Given the description of an element on the screen output the (x, y) to click on. 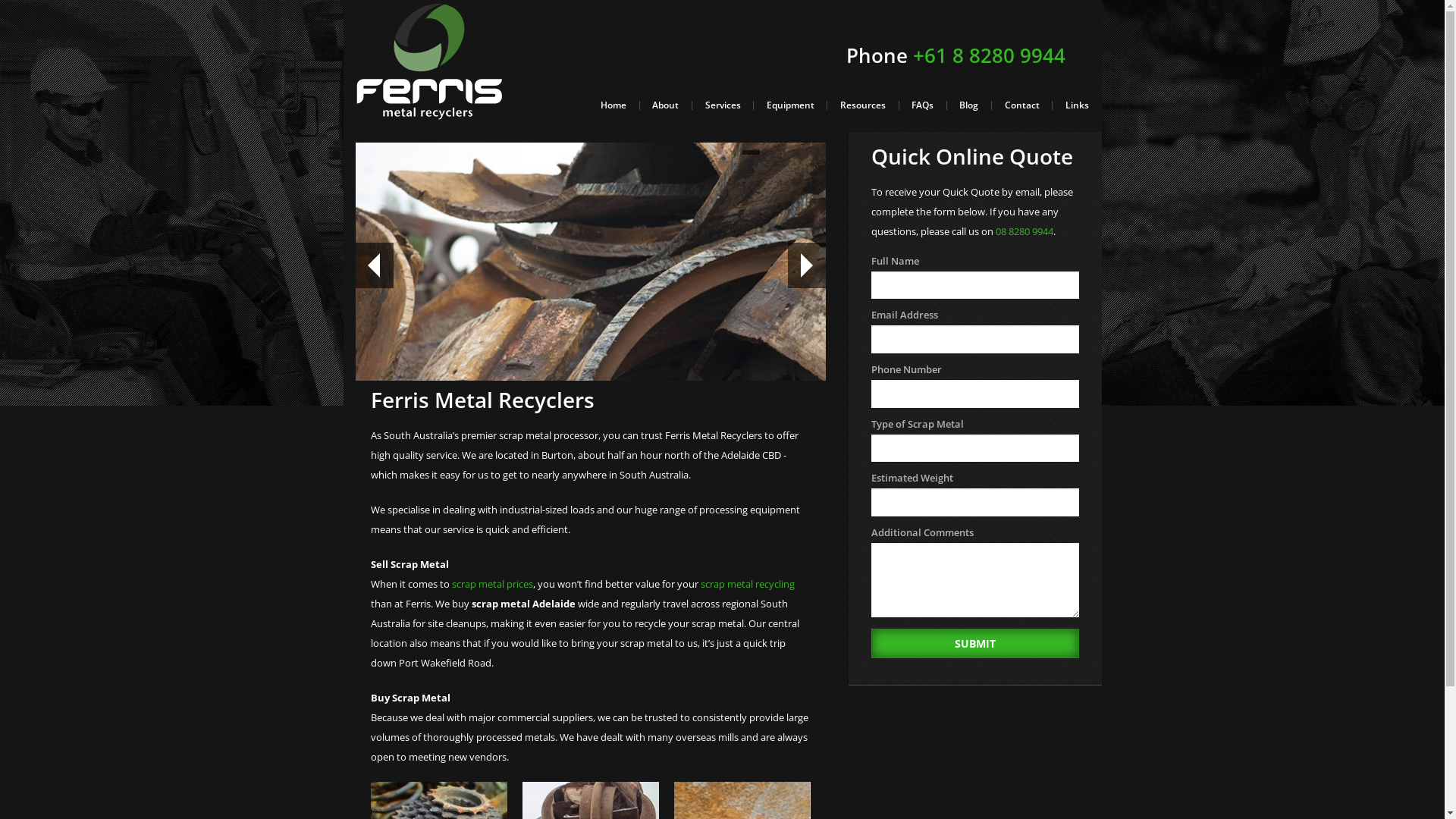
Services Element type: text (722, 104)
FAQs Element type: text (922, 104)
Home Element type: text (613, 104)
Contact Element type: text (1021, 104)
About Element type: text (665, 104)
+61 8 8280 9944 Element type: text (989, 55)
Equipment Element type: text (789, 104)
SUBMIT Element type: text (974, 643)
scrap metal prices Element type: text (492, 583)
Blog Element type: text (968, 104)
scrap metal recycling Element type: text (747, 583)
08 8280 9944 Element type: text (1024, 231)
Resources Element type: text (861, 104)
Links Element type: text (1076, 104)
